Given the description of an element on the screen output the (x, y) to click on. 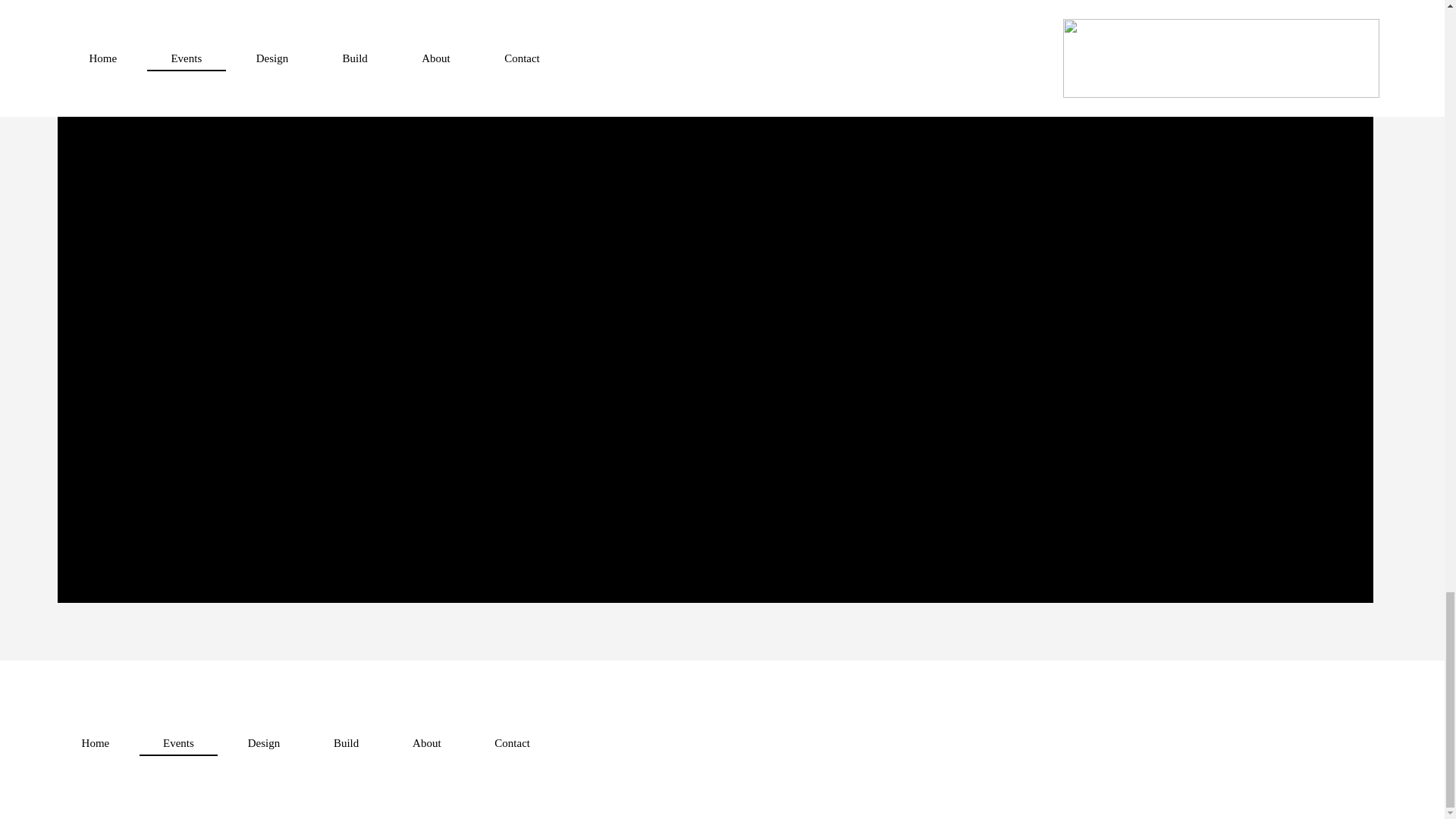
Contact (511, 743)
Home (95, 743)
Design (263, 743)
Build (346, 743)
Events (178, 743)
About (426, 743)
